Given the description of an element on the screen output the (x, y) to click on. 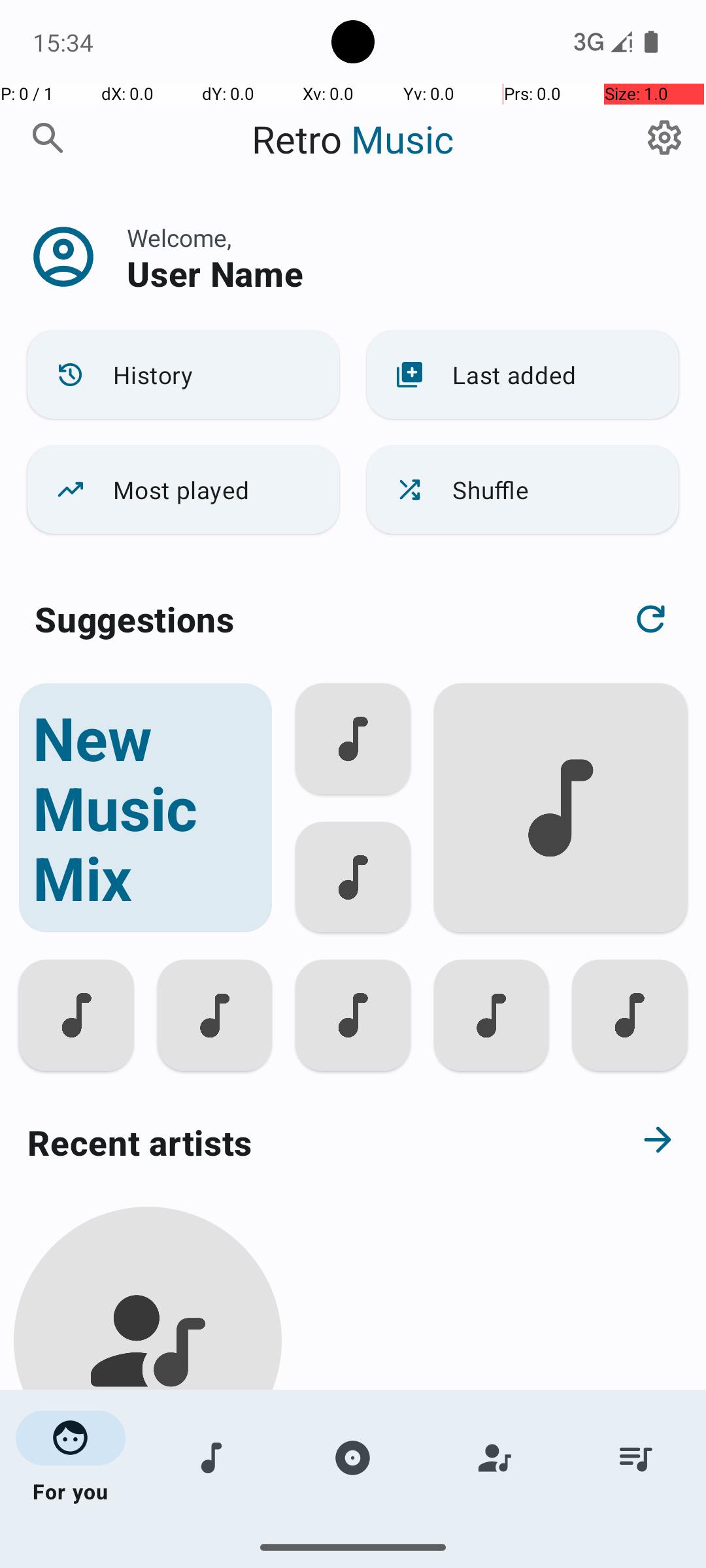
Welcome, Element type: android.widget.TextView (179, 237)
Most played Element type: android.widget.Button (183, 489)
Suggestions Element type: android.widget.TextView (134, 618)
New Music Mix Element type: android.widget.TextView (144, 807)
Recent albums Element type: android.widget.TextView (304, 1557)
Martina Element type: android.widget.TextView (147, 1503)
